Given the description of an element on the screen output the (x, y) to click on. 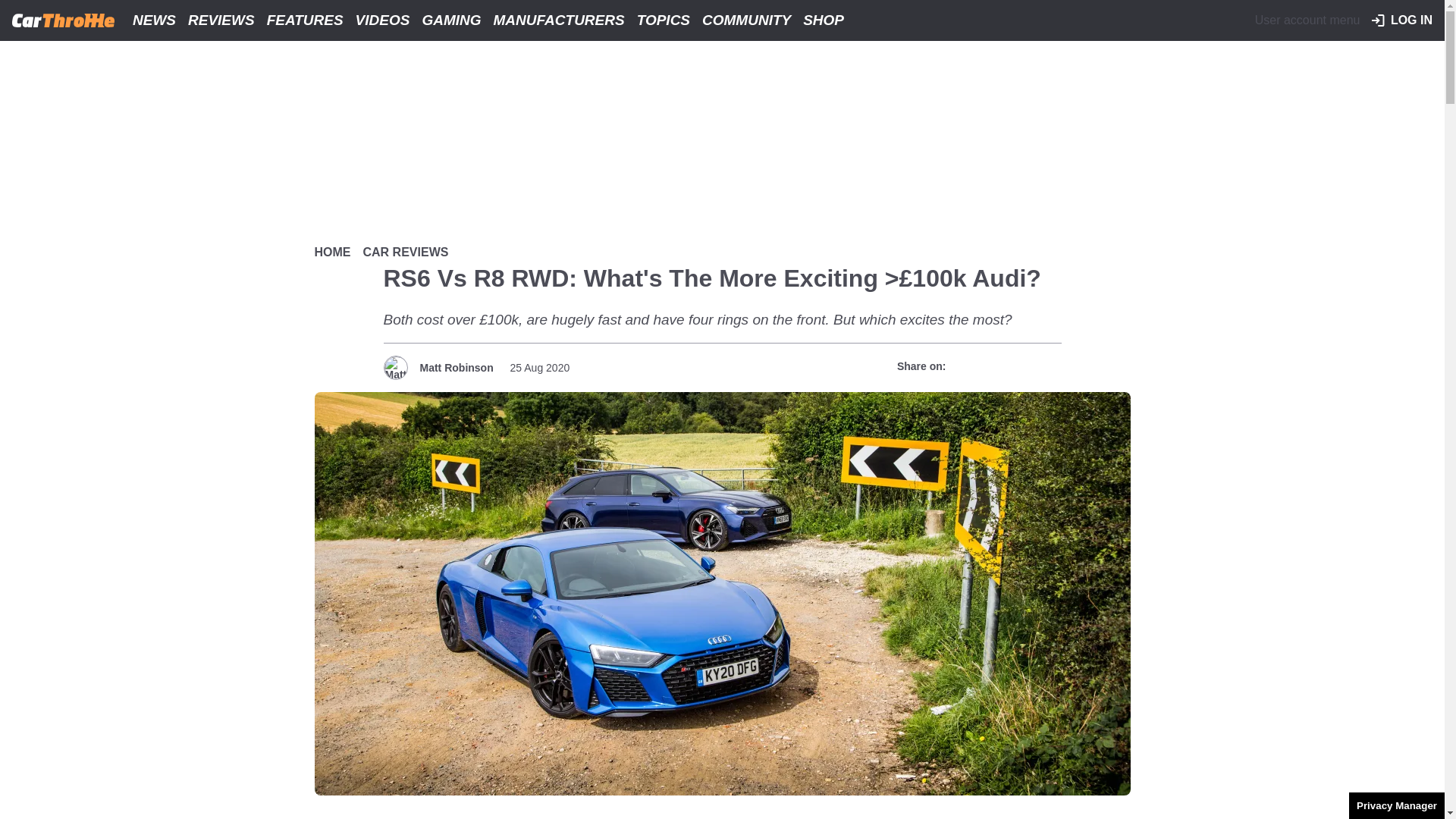
LOG IN (1401, 20)
VIDEOS (382, 20)
Share to WhatsApp (1020, 365)
MANUFACTURERS (558, 20)
FEATURES (304, 20)
Share to Facebook (965, 365)
GAMING (450, 20)
NEWS (154, 20)
Share to Email (1047, 365)
REVIEWS (221, 20)
Share to X (993, 365)
